Given the description of an element on the screen output the (x, y) to click on. 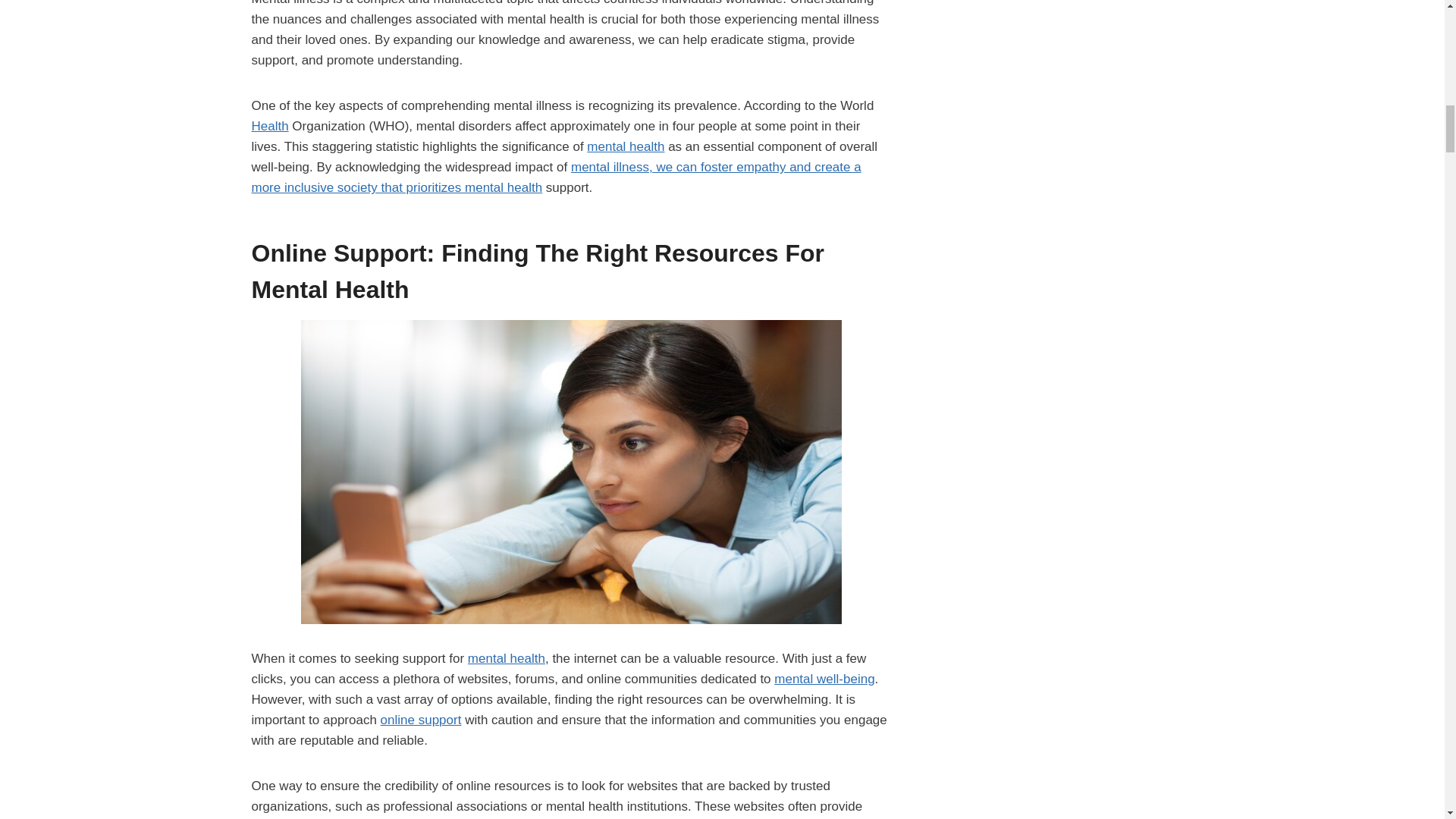
online support (420, 719)
Health (269, 125)
mental well-being (824, 678)
mental health (624, 146)
mental health (505, 658)
